Given the description of an element on the screen output the (x, y) to click on. 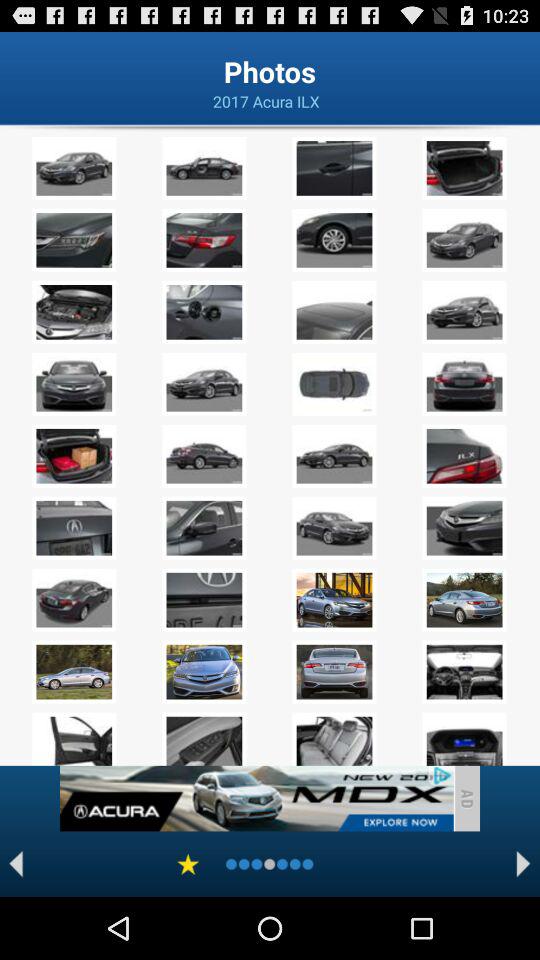
go to advertisement option (256, 798)
